Given the description of an element on the screen output the (x, y) to click on. 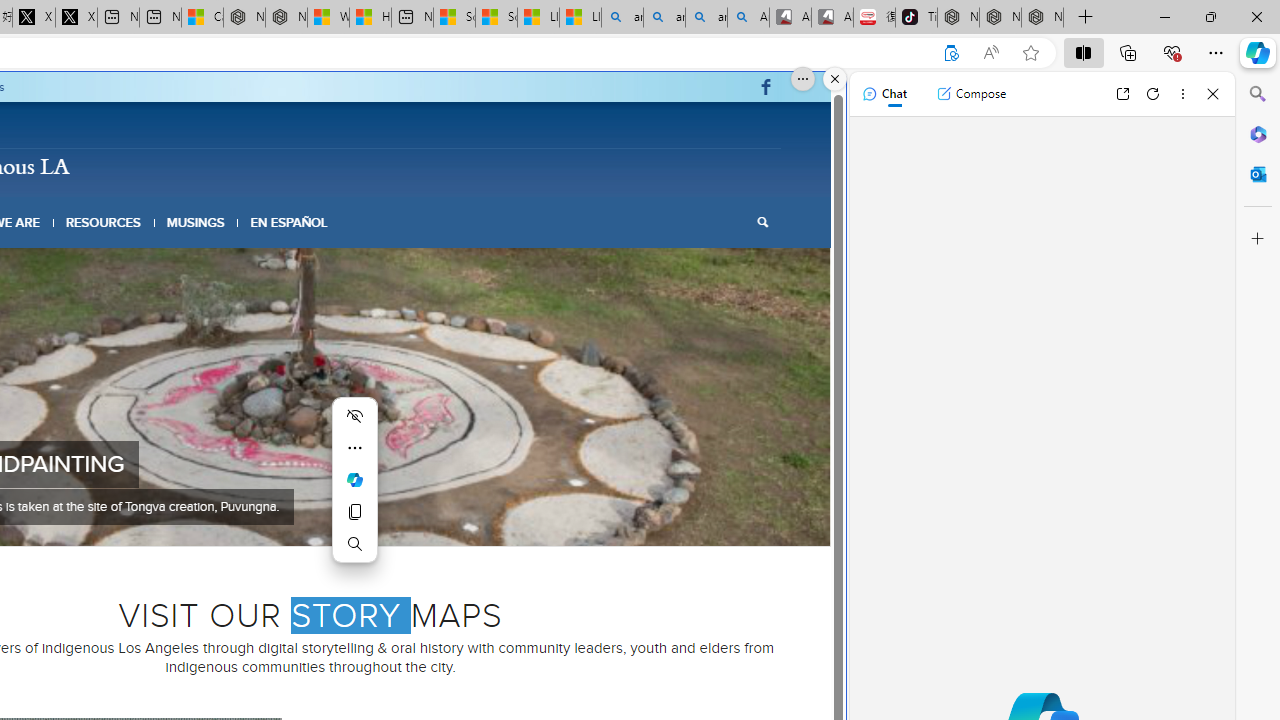
Outlook (1258, 174)
5 (318, 520)
Support THE UCLA FOUNDATION? (950, 53)
